Given the description of an element on the screen output the (x, y) to click on. 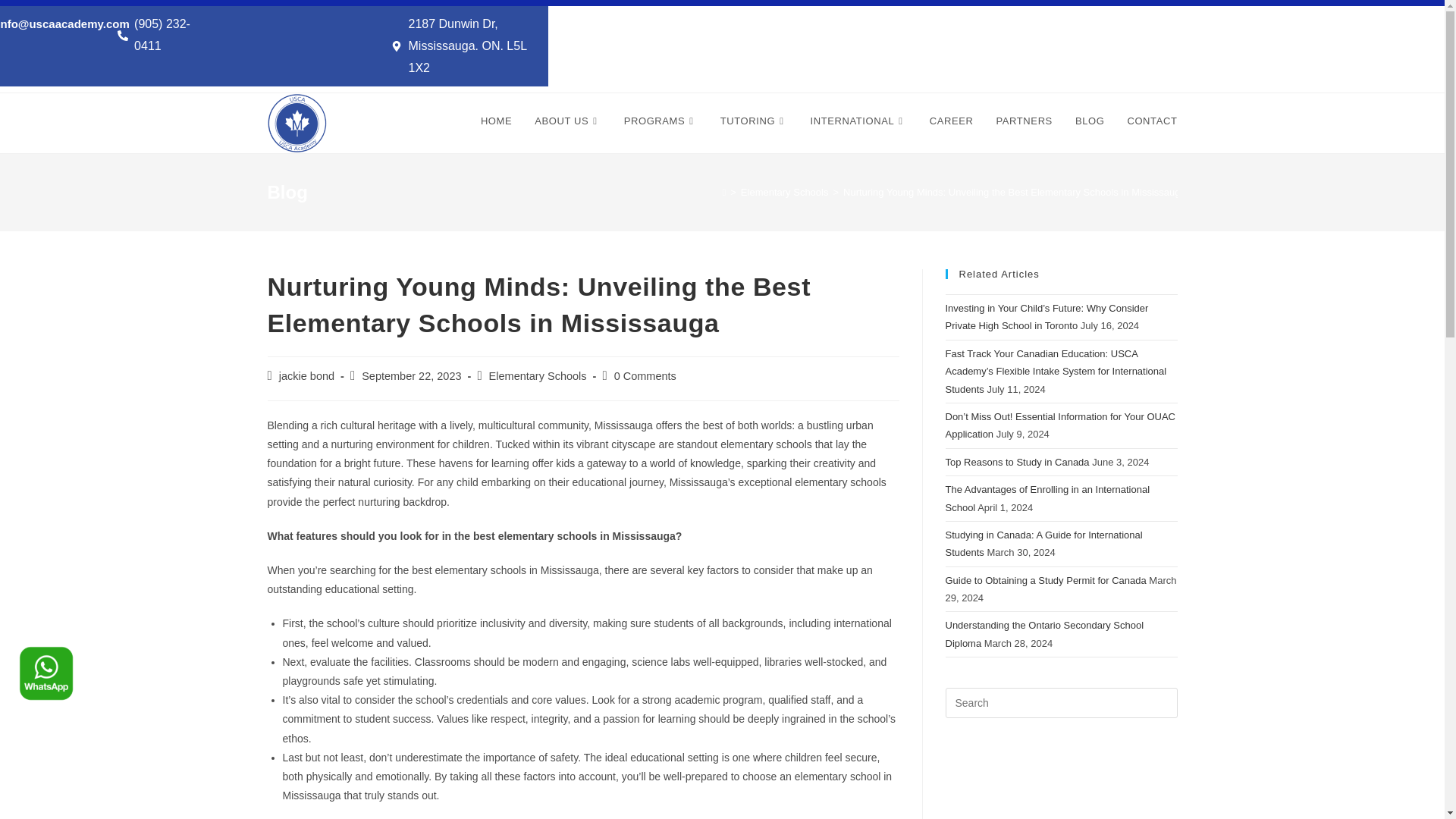
About USCA Academy (566, 121)
Ocas Programs (660, 121)
HOME (495, 121)
TUTORING (754, 121)
2187 Dunwin Dr, Mississauga. ON. L5L 1X2 (465, 45)
PROGRAMS (660, 121)
ABOUT US (566, 121)
INTERNATIONAL (858, 121)
Tutoring Services Mississauga (754, 121)
